Given the description of an element on the screen output the (x, y) to click on. 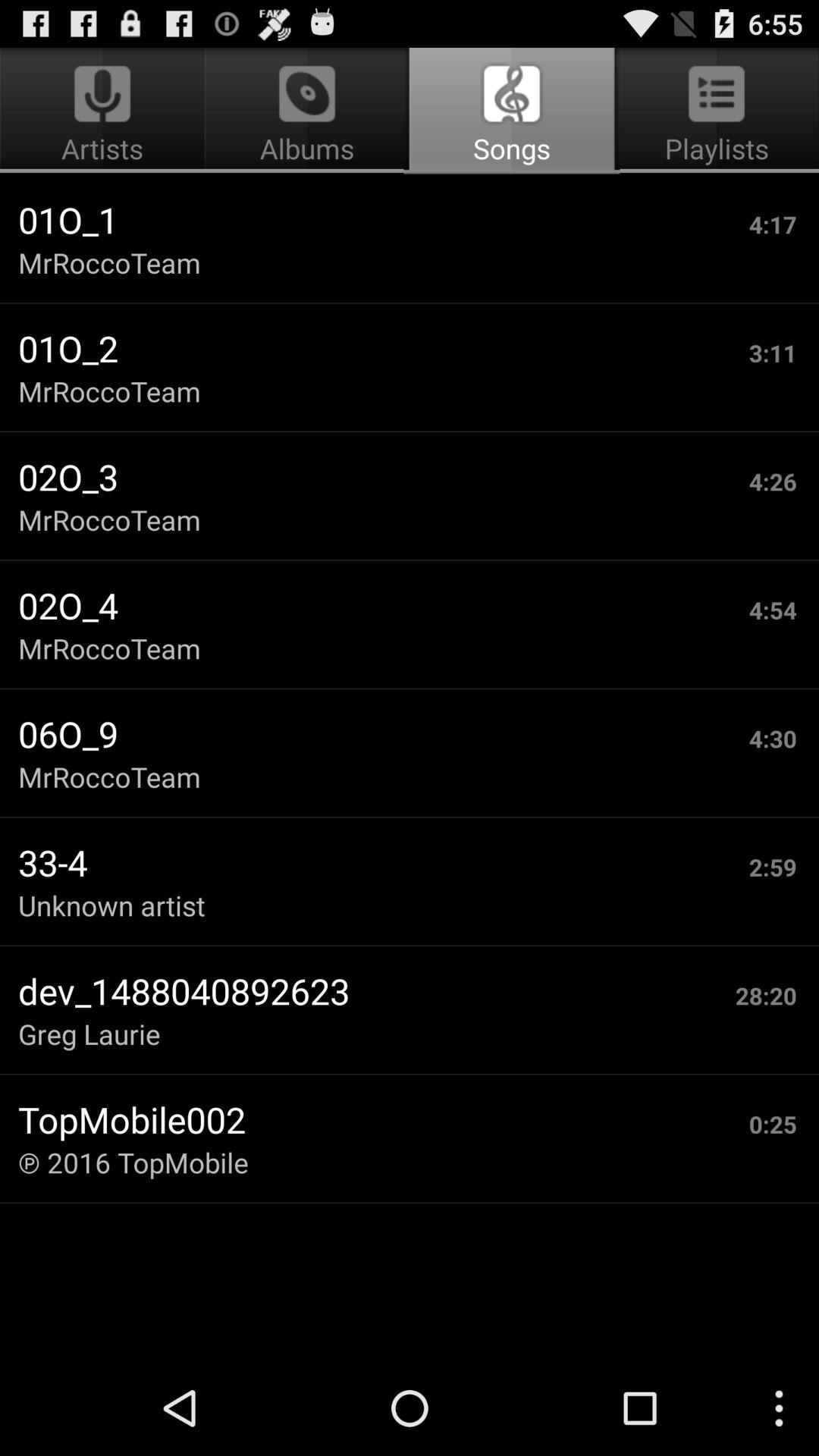
select icon above 01o_1 app (307, 111)
